Given the description of an element on the screen output the (x, y) to click on. 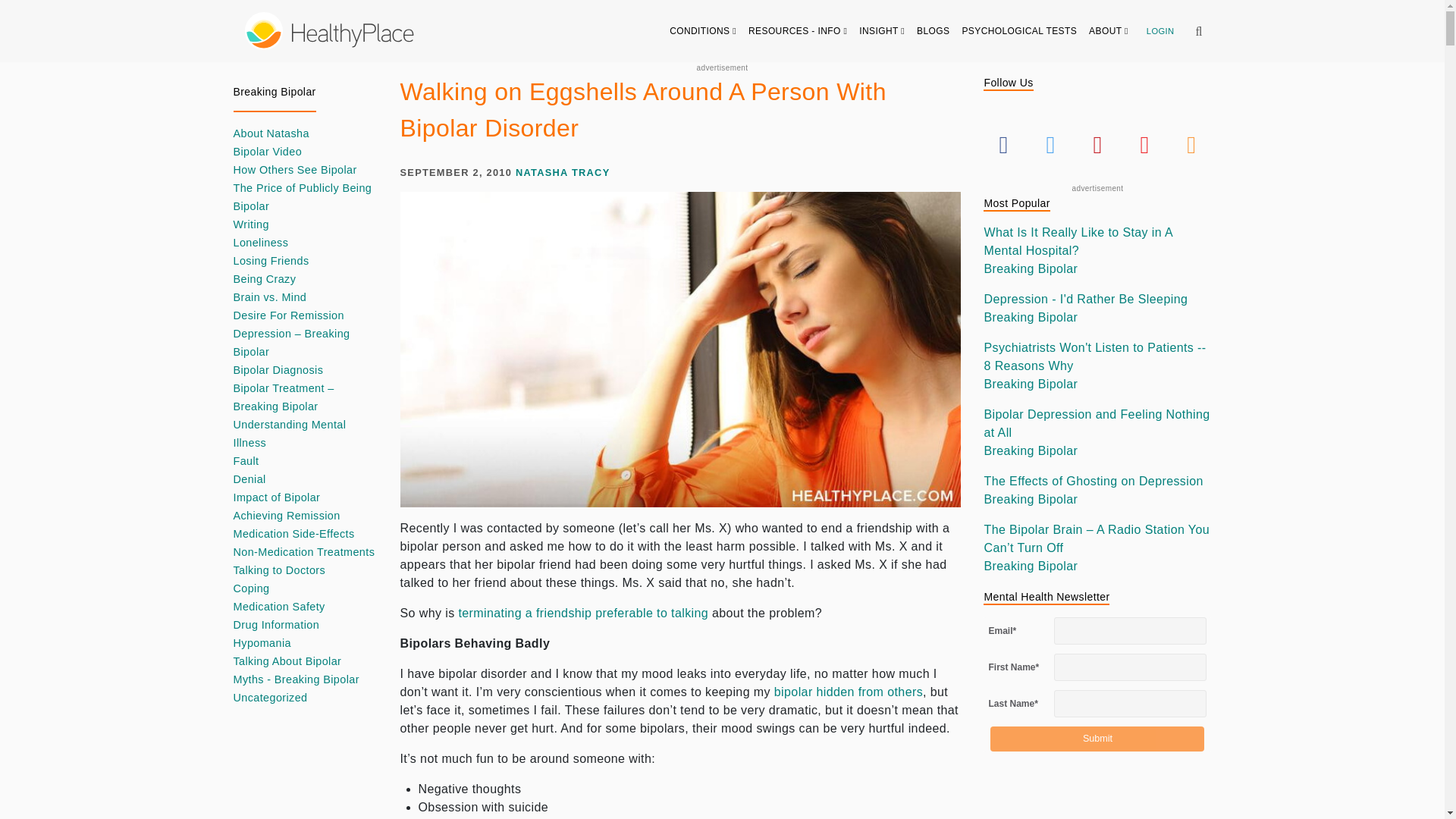
RESOURCES - INFO (797, 31)
Bipolar As Love Thief (582, 612)
Submit (1097, 738)
INSIGHT (882, 31)
Bipolar Show and Tell (848, 691)
CONDITIONS (702, 31)
